Given the description of an element on the screen output the (x, y) to click on. 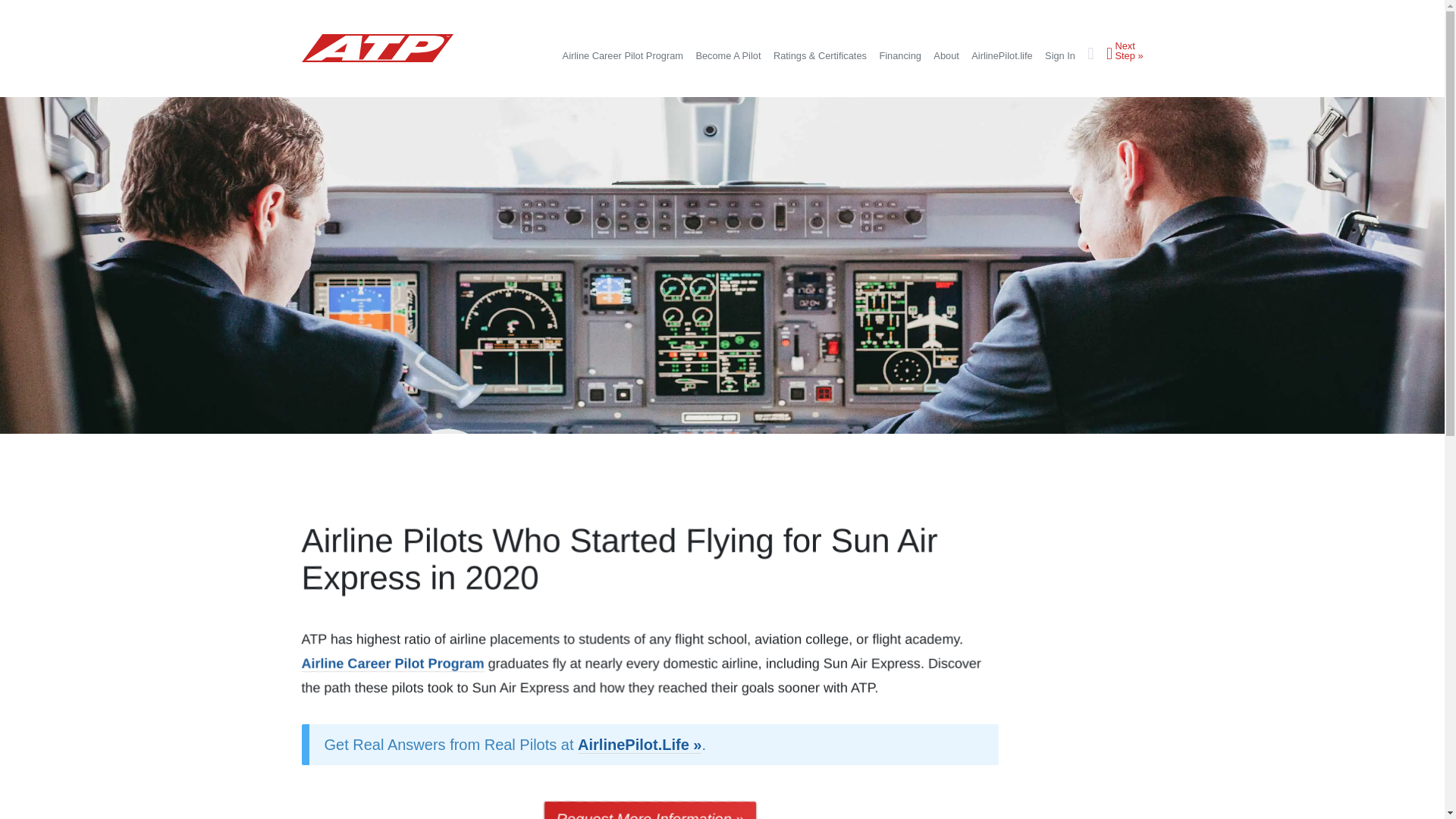
ATP Flight School (376, 48)
Become A Pilot (727, 55)
ATP Flight School (376, 62)
Become A Pilot - Your Pilot Career Guide (727, 55)
Airline Career Pilot Program (622, 55)
Financing (900, 55)
